Given the description of an element on the screen output the (x, y) to click on. 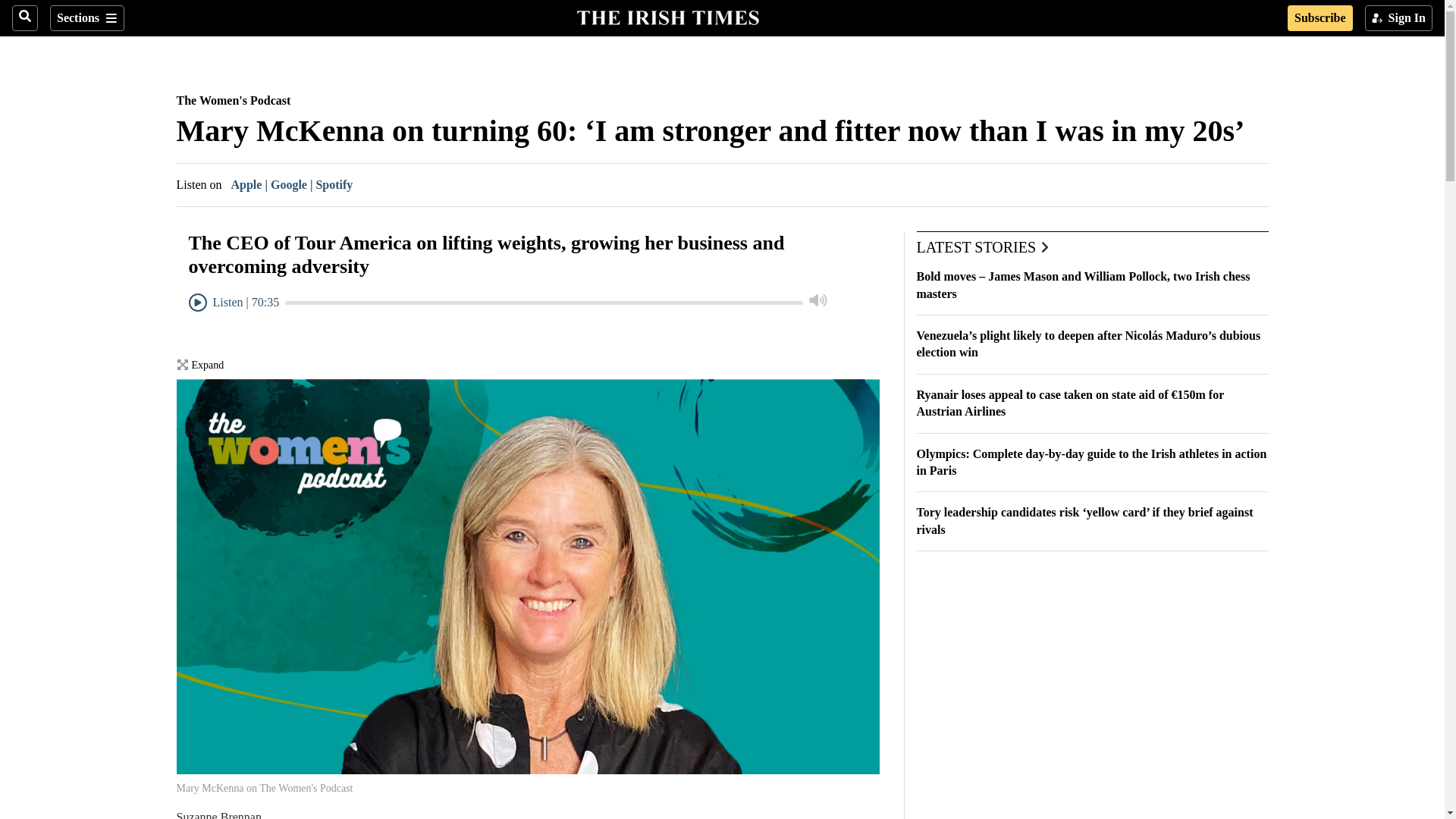
Subscribe (1319, 17)
Sections (86, 17)
Sign In (1398, 17)
The Irish Times (667, 16)
